Given the description of an element on the screen output the (x, y) to click on. 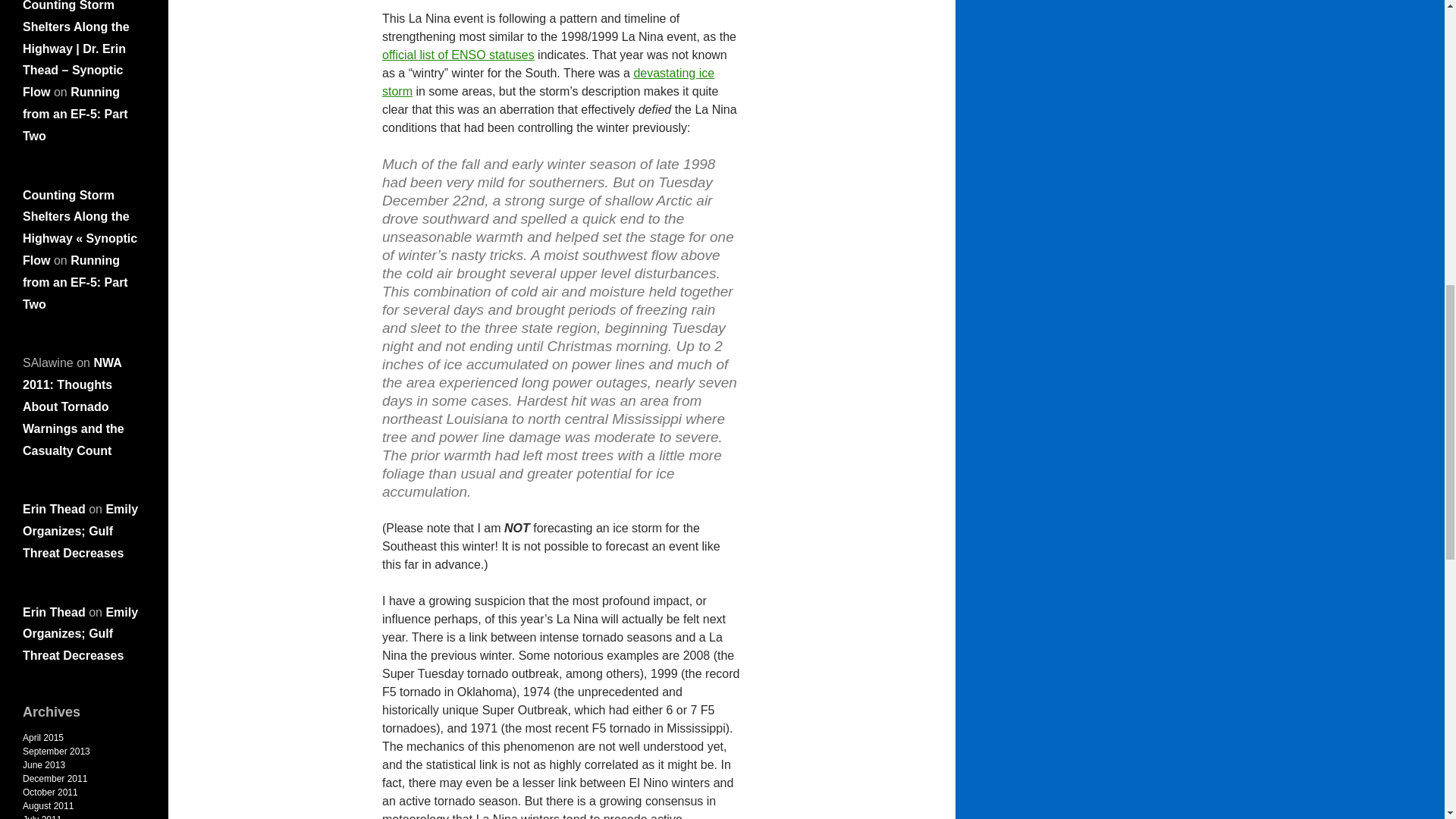
official list of ENSO statuses (457, 54)
devastating ice storm (547, 81)
Running from an EF-5: Part Two (75, 113)
